Given the description of an element on the screen output the (x, y) to click on. 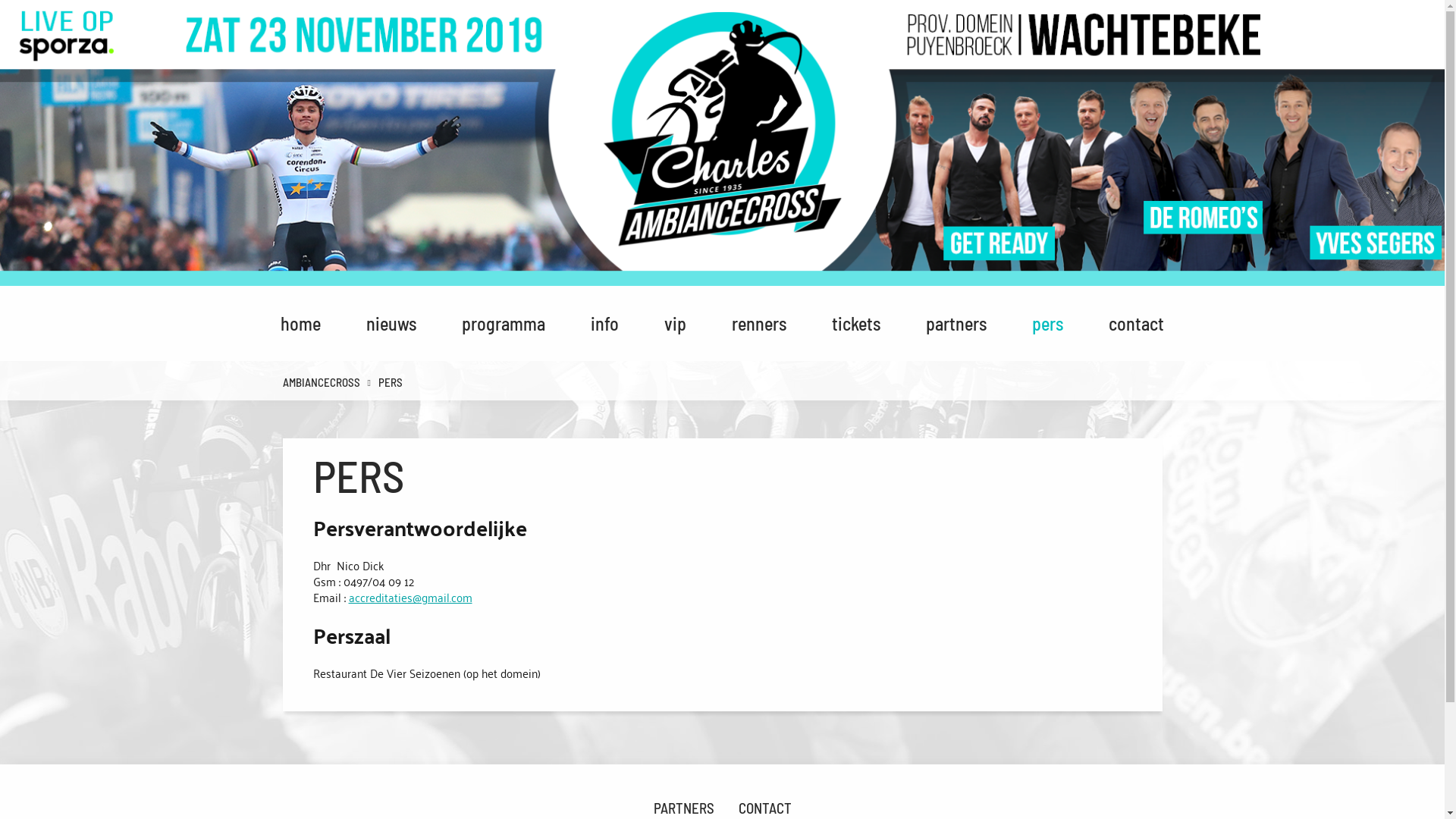
tickets Element type: text (855, 322)
renners Element type: text (758, 322)
info Element type: text (604, 322)
nieuws Element type: text (390, 322)
contact Element type: text (1136, 322)
home Element type: text (300, 322)
accreditaties@gmail.com Element type: text (410, 596)
vip Element type: text (674, 322)
partners Element type: text (955, 322)
PERS Element type: text (388, 382)
programma Element type: text (503, 322)
AMBIANCECROSS Element type: text (320, 382)
pers Element type: text (1047, 322)
